Given the description of an element on the screen output the (x, y) to click on. 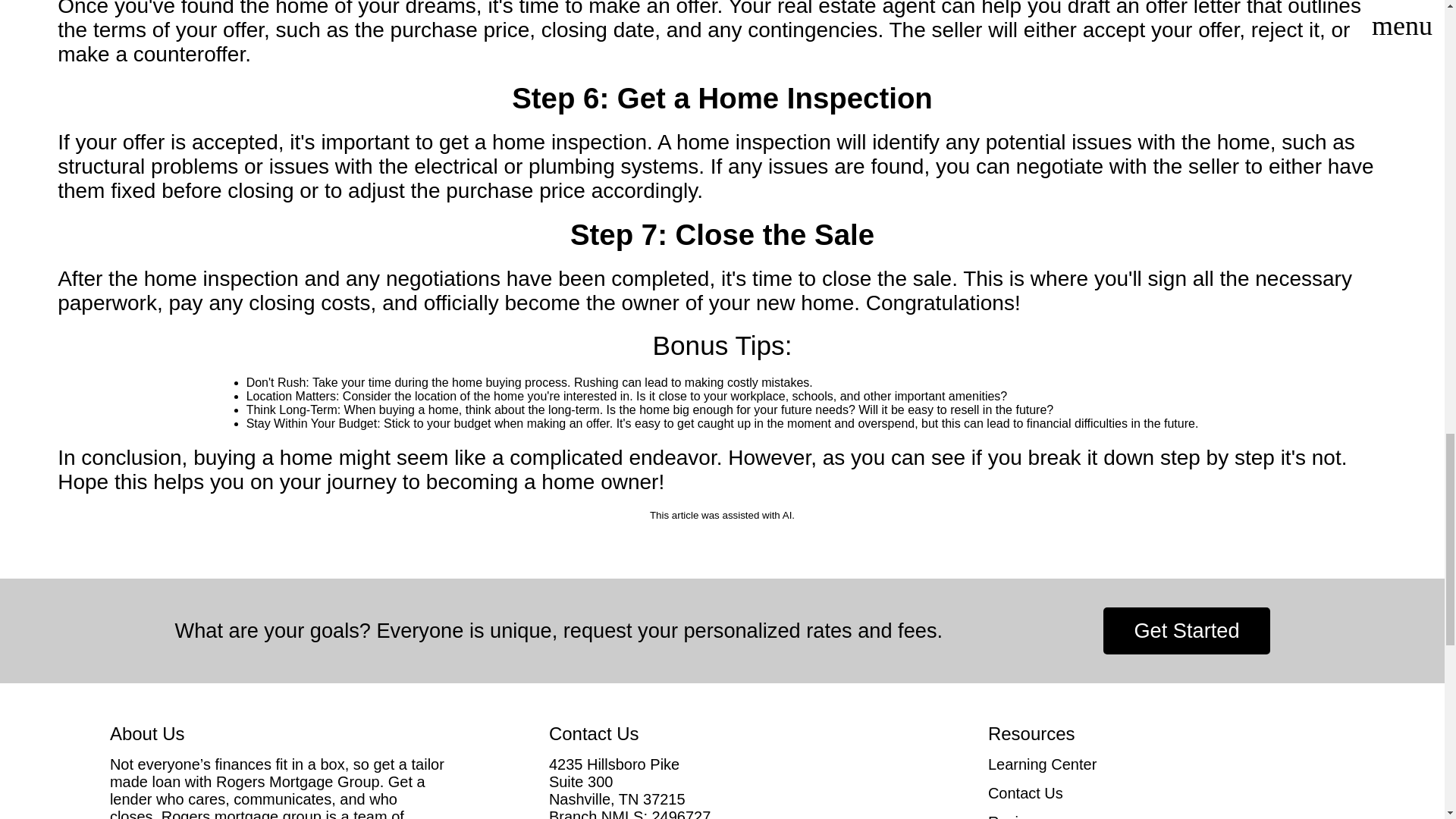
Contact Us (1161, 793)
Get Started (1186, 630)
Reviews (1161, 816)
Learning Center (1161, 764)
